Given the description of an element on the screen output the (x, y) to click on. 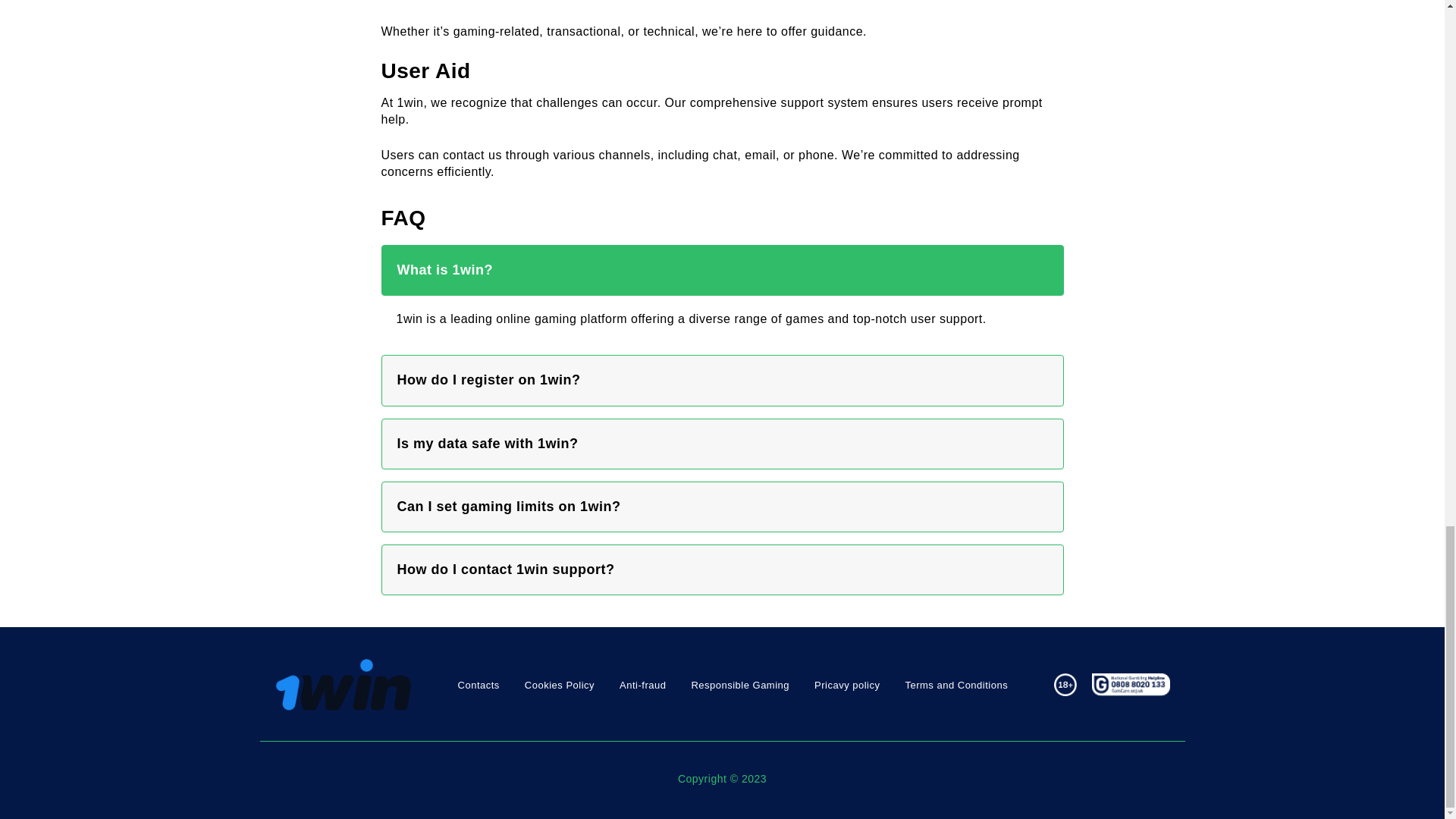
Contacts (478, 685)
Terms and Conditions (955, 685)
Anti-fraud (642, 685)
Cookies Policy (559, 685)
Responsible Gaming (739, 685)
Pricavy policy (846, 685)
